Given the description of an element on the screen output the (x, y) to click on. 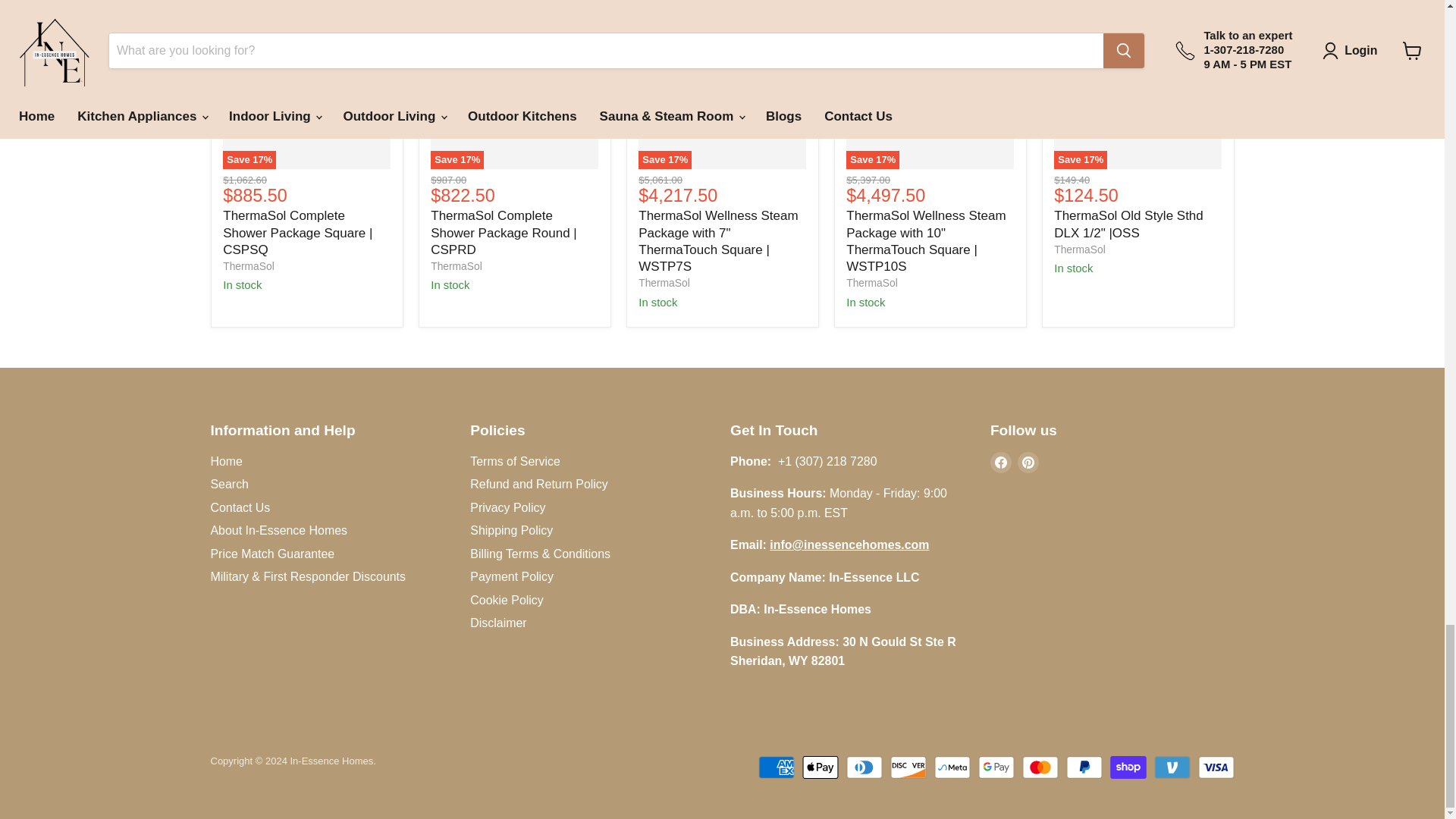
Pinterest (1028, 462)
ThermaSol (870, 282)
Facebook (1000, 462)
ThermaSol (663, 282)
ThermaSol (455, 265)
ThermaSol (1079, 249)
ThermaSol (247, 265)
